Given the description of an element on the screen output the (x, y) to click on. 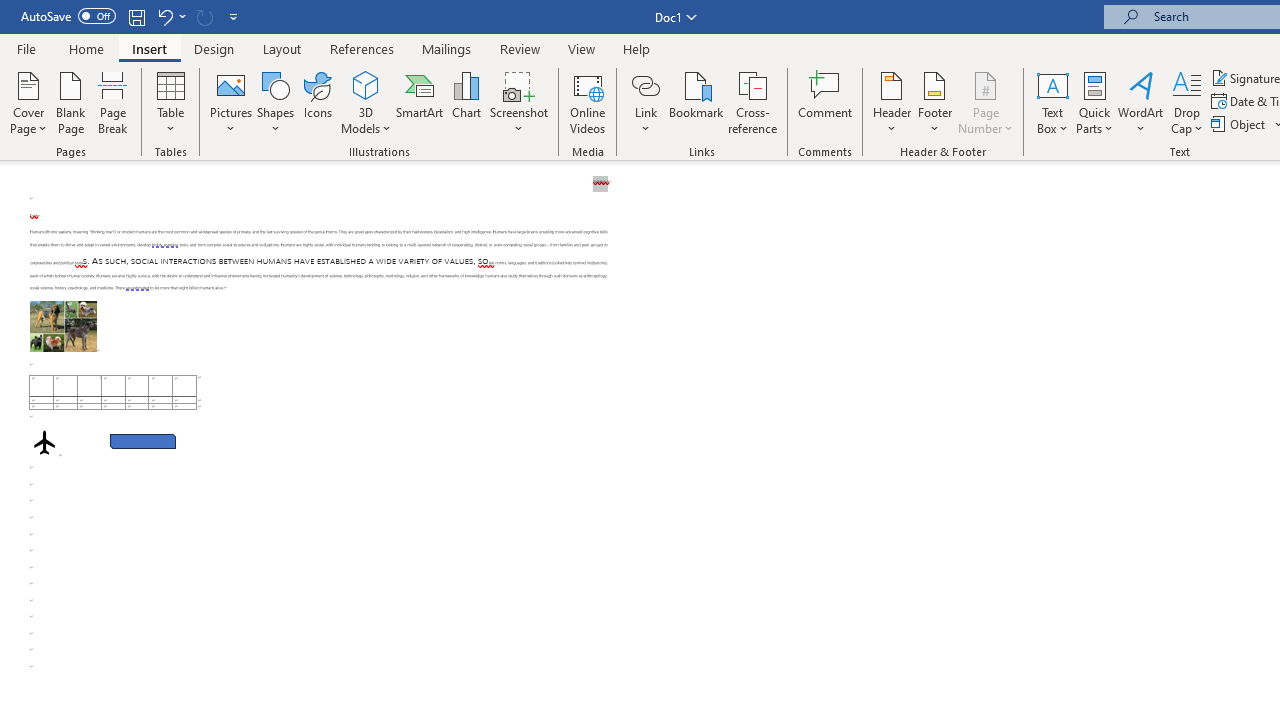
Chart... (466, 102)
Quick Access Toolbar (131, 16)
Drop Cap (1187, 102)
Screenshot (518, 102)
Review (520, 48)
Page Number (986, 102)
3D Models (366, 84)
Quick Parts (1094, 102)
Layout (282, 48)
View (582, 48)
Insert (149, 48)
Bookmark... (695, 102)
Comment (825, 102)
Footer (934, 102)
SmartArt... (419, 102)
